Given the description of an element on the screen output the (x, y) to click on. 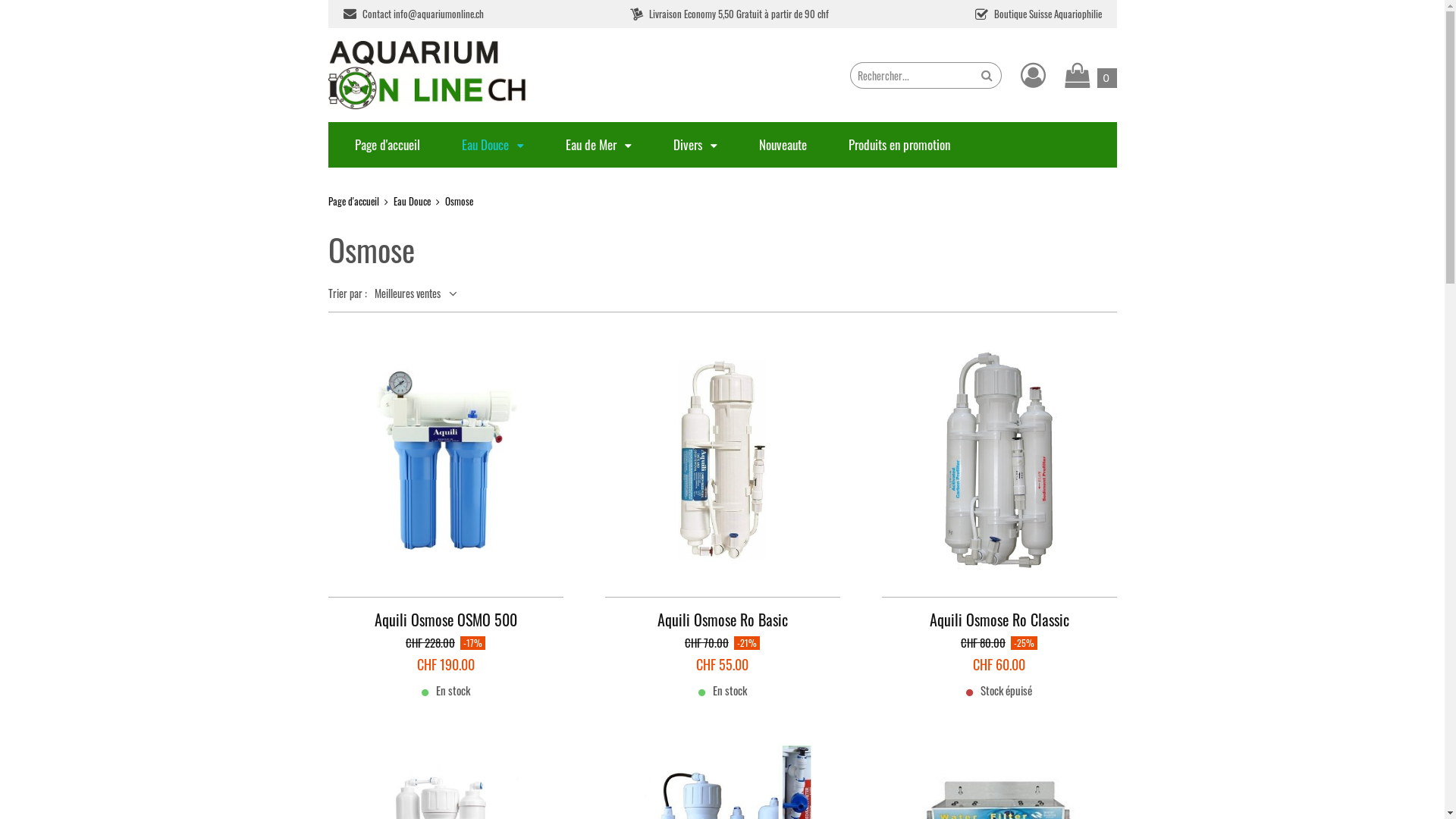
AquariumOnline.Ch Element type: hover (429, 74)
Aquili Osmose Ro Classic Element type: text (998, 488)
Eau de Mer Element type: text (598, 143)
Aquili Osmose Ro Basic Element type: text (722, 488)
Aquili Osmose OSMO 500 Element type: text (444, 488)
Page d'accueil Element type: text (352, 200)
Eau Douce Element type: text (410, 200)
Eau Douce Element type: text (492, 143)
Divers Element type: text (695, 143)
Page d'accueil Element type: text (387, 143)
Osmose Element type: text (458, 200)
Produits en promotion Element type: text (898, 143)
Nouveaute Element type: text (782, 143)
Rechercher Element type: text (985, 75)
